Given the description of an element on the screen output the (x, y) to click on. 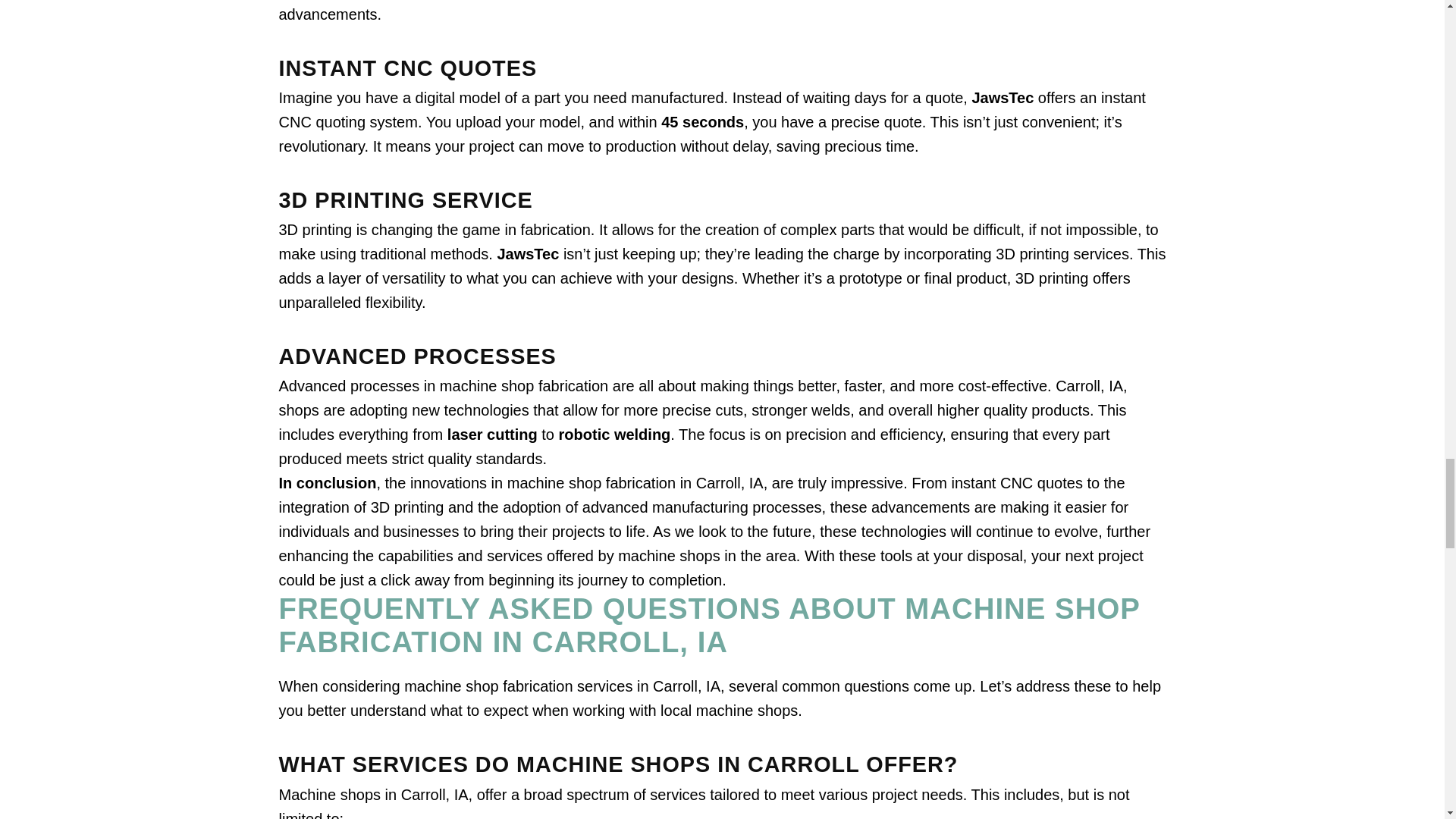
precision and efficiency (864, 434)
